Given the description of an element on the screen output the (x, y) to click on. 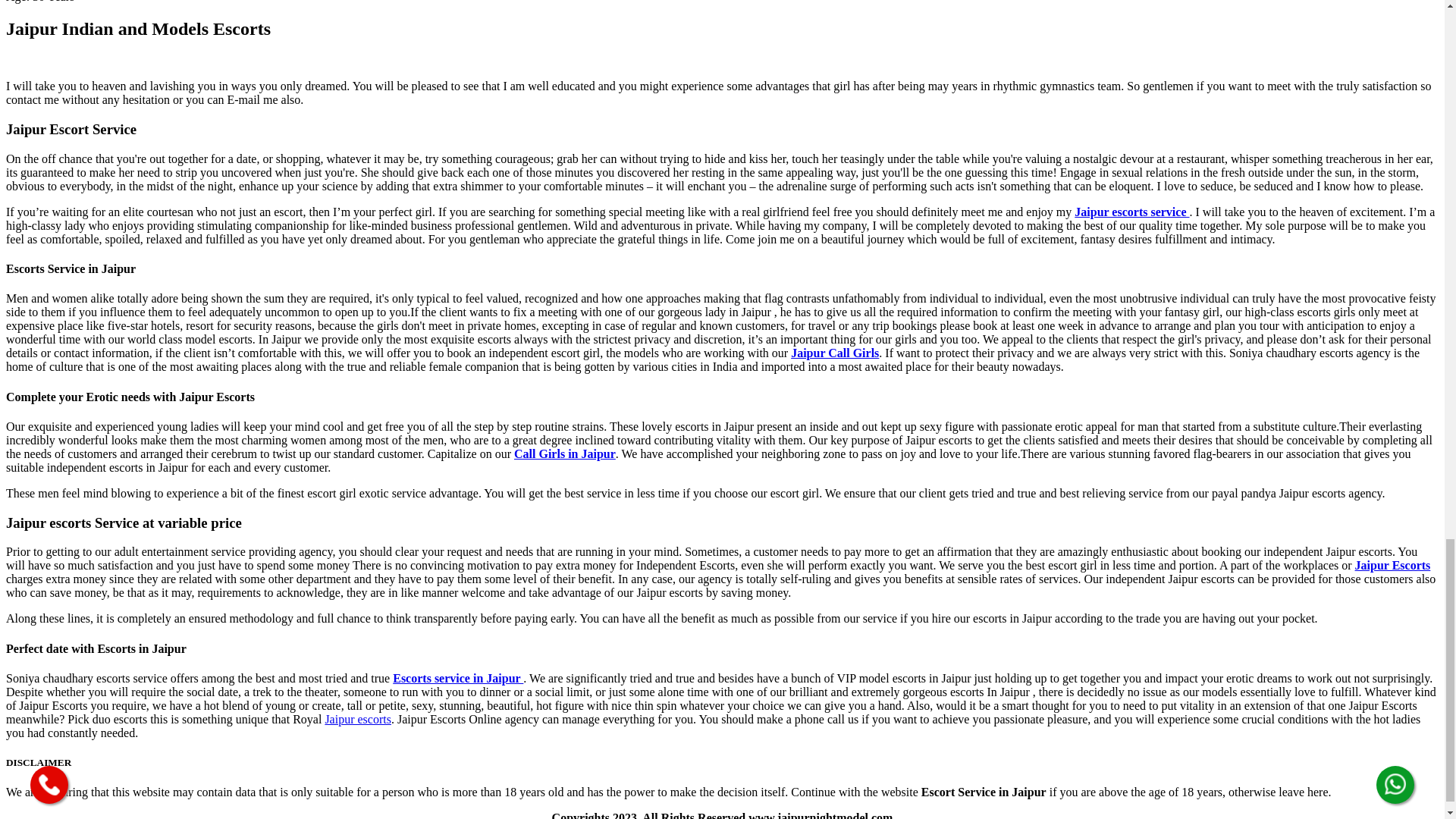
Escorts service in Jaipur (457, 677)
Jaipur Escorts (1393, 564)
Jaipur escorts service (1131, 211)
Jaipur escorts (357, 718)
Jaipur Call Girls (834, 352)
Call Girls in Jaipur (564, 453)
